Given the description of an element on the screen output the (x, y) to click on. 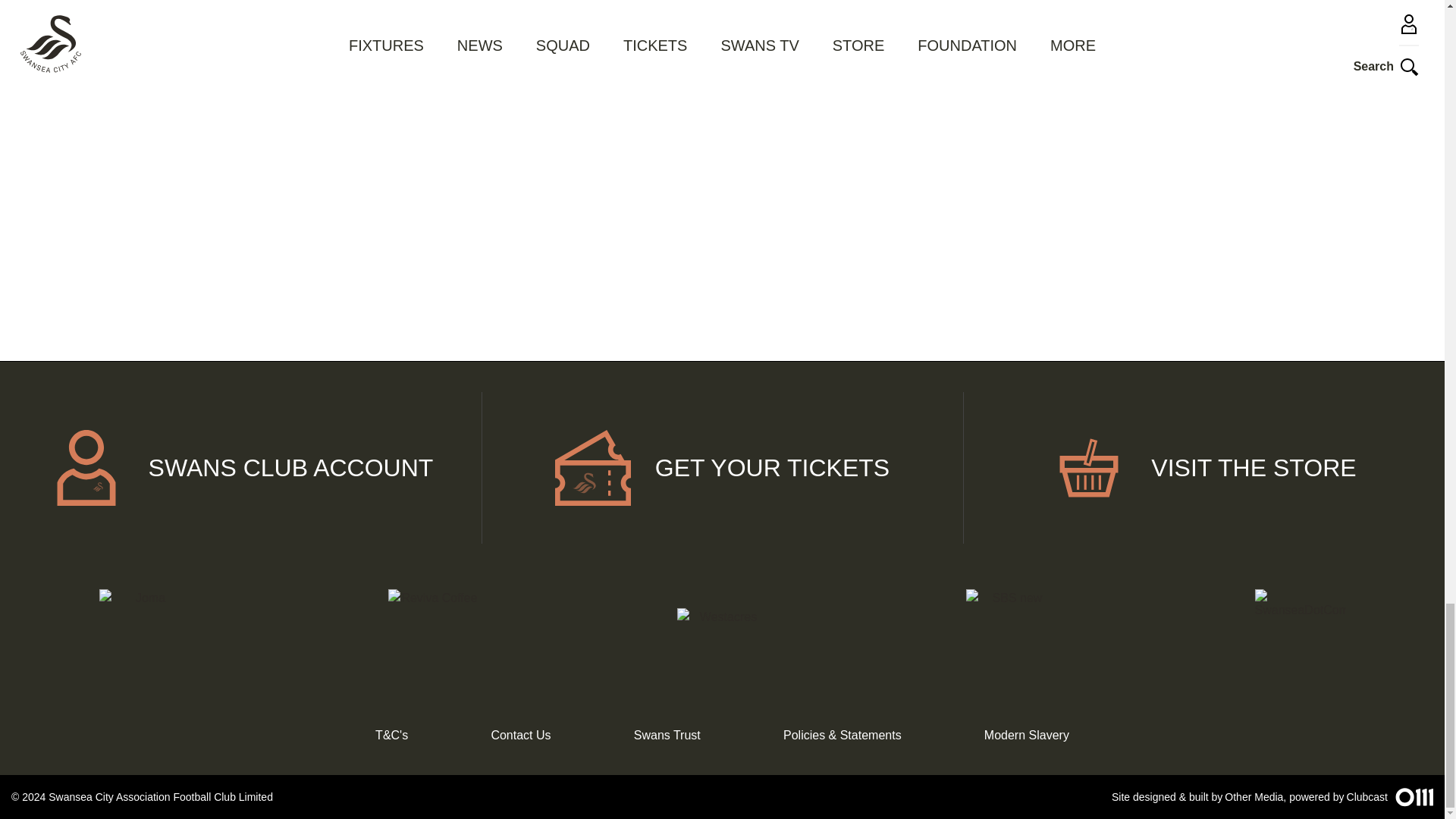
Swansea sponsor (1299, 634)
Swansea sponsor (432, 634)
Swansea sponsor (144, 634)
Sign up or log into Swans Club Account (240, 467)
Swansea sponsor (722, 634)
